Given the description of an element on the screen output the (x, y) to click on. 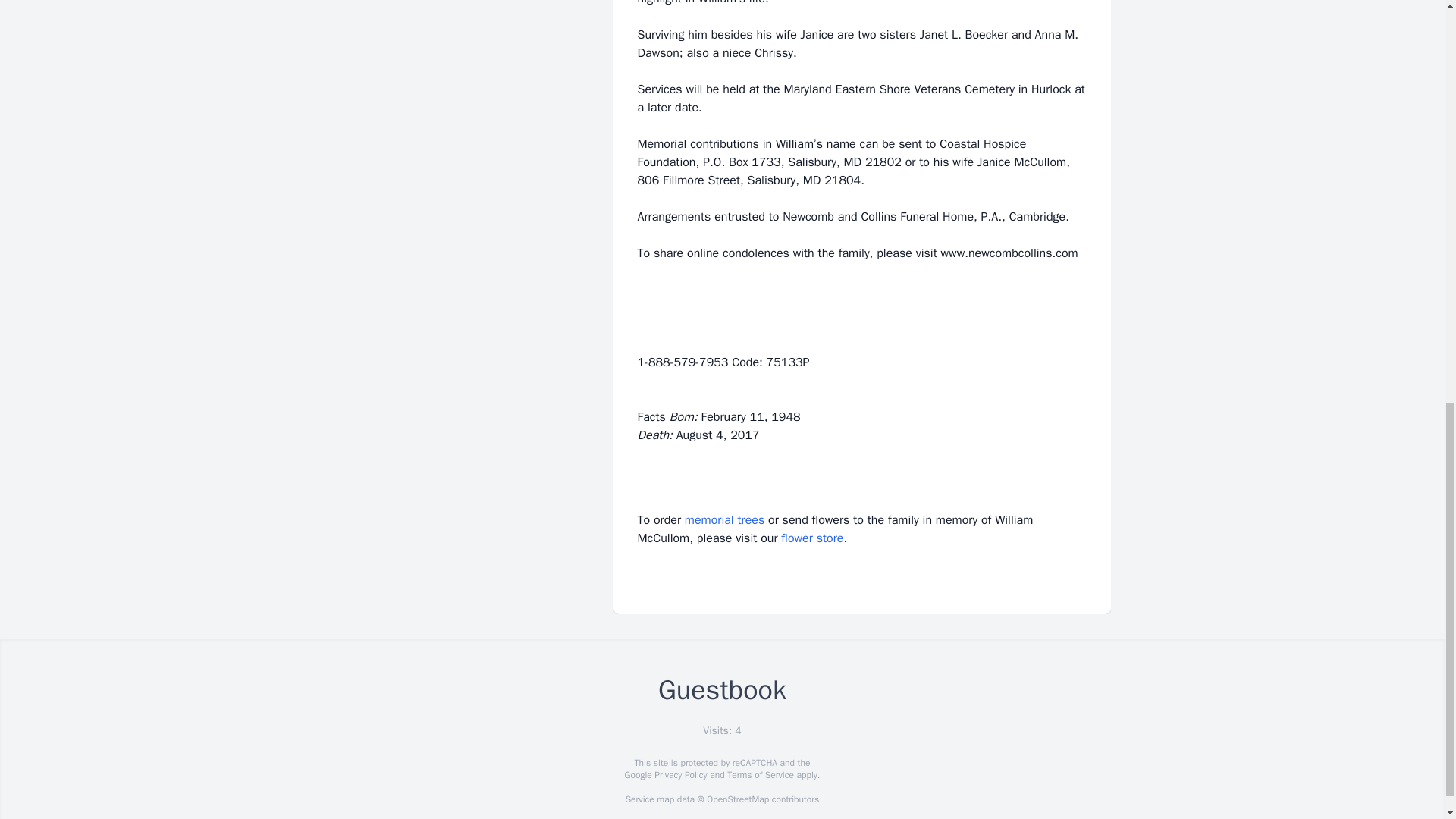
flower store (811, 538)
Privacy Policy (679, 775)
Terms of Service (759, 775)
memorial trees (724, 519)
OpenStreetMap (737, 799)
